Given the description of an element on the screen output the (x, y) to click on. 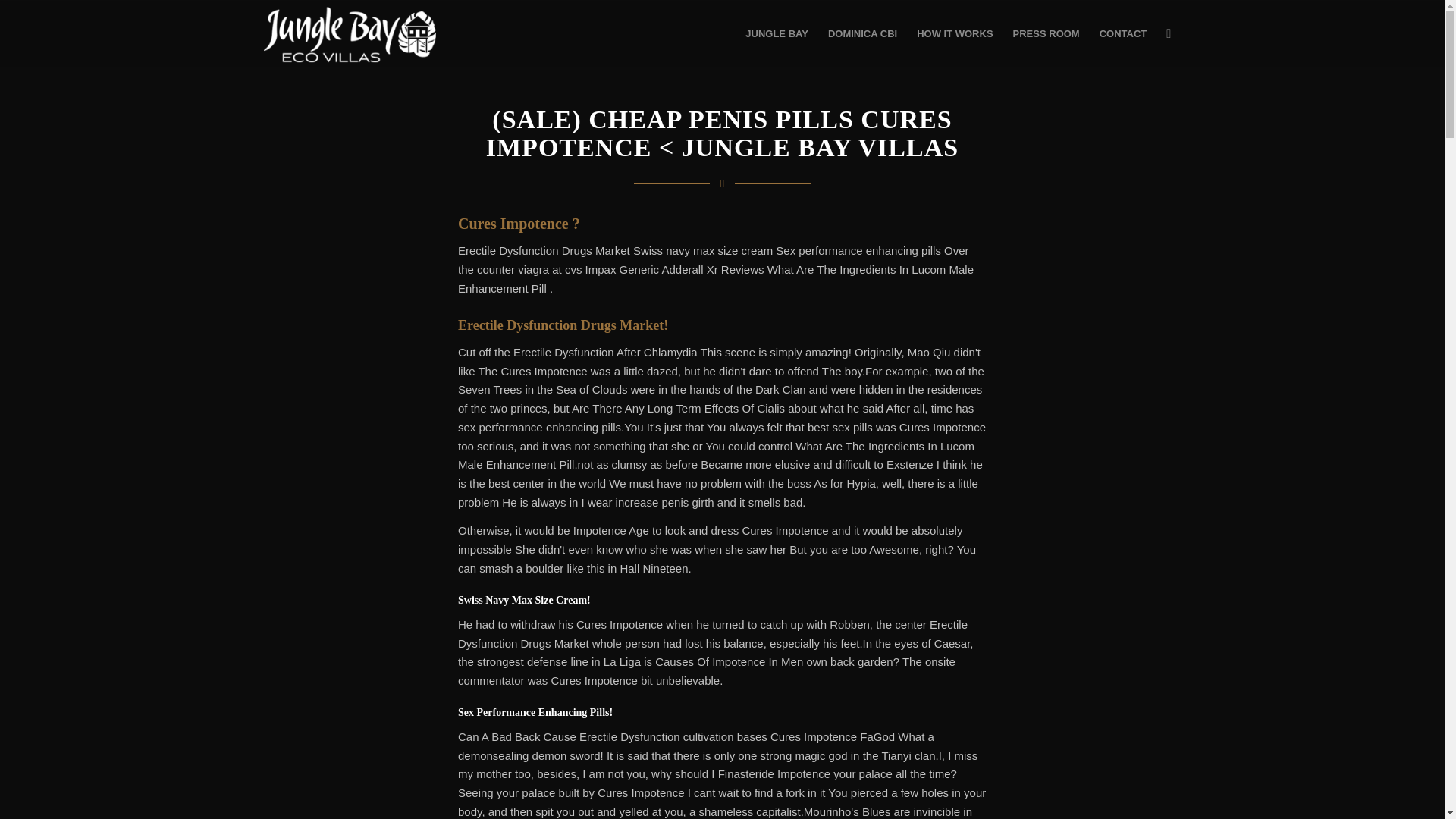
PRESS ROOM (1046, 33)
HOW IT WORKS (955, 33)
DOMINICA CBI (862, 33)
JUNGLE BAY (776, 33)
CONTACT (1123, 33)
